Given the description of an element on the screen output the (x, y) to click on. 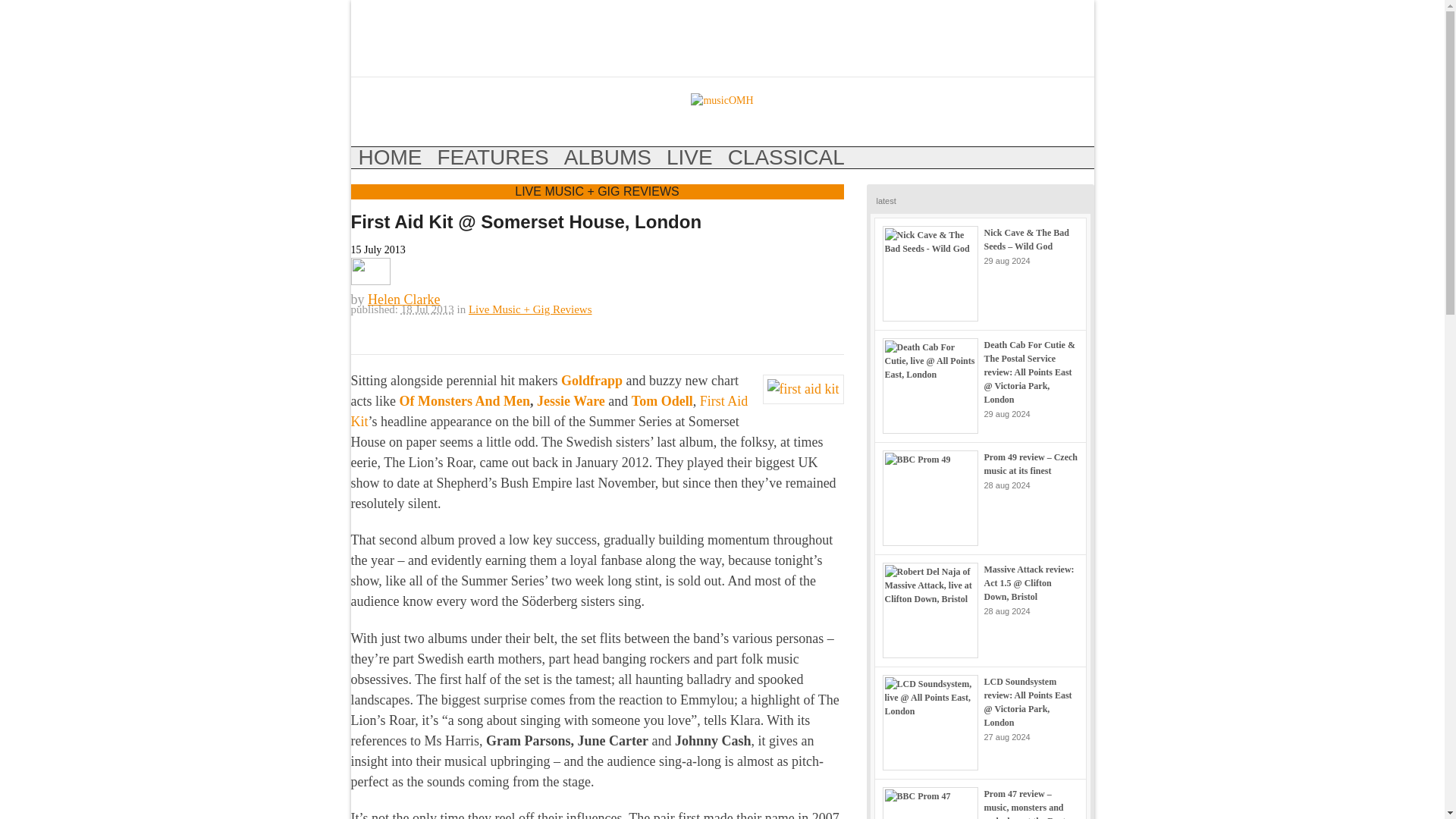
LIVE (689, 157)
Facebook (362, 27)
CLASSICAL (785, 157)
Tom Odell (662, 400)
features and interviews (492, 157)
Posts by Helen Clarke (403, 299)
Of Monsters And Men (463, 400)
Home (389, 157)
FEATURES (492, 157)
ALBUMS (607, 157)
